Given the description of an element on the screen output the (x, y) to click on. 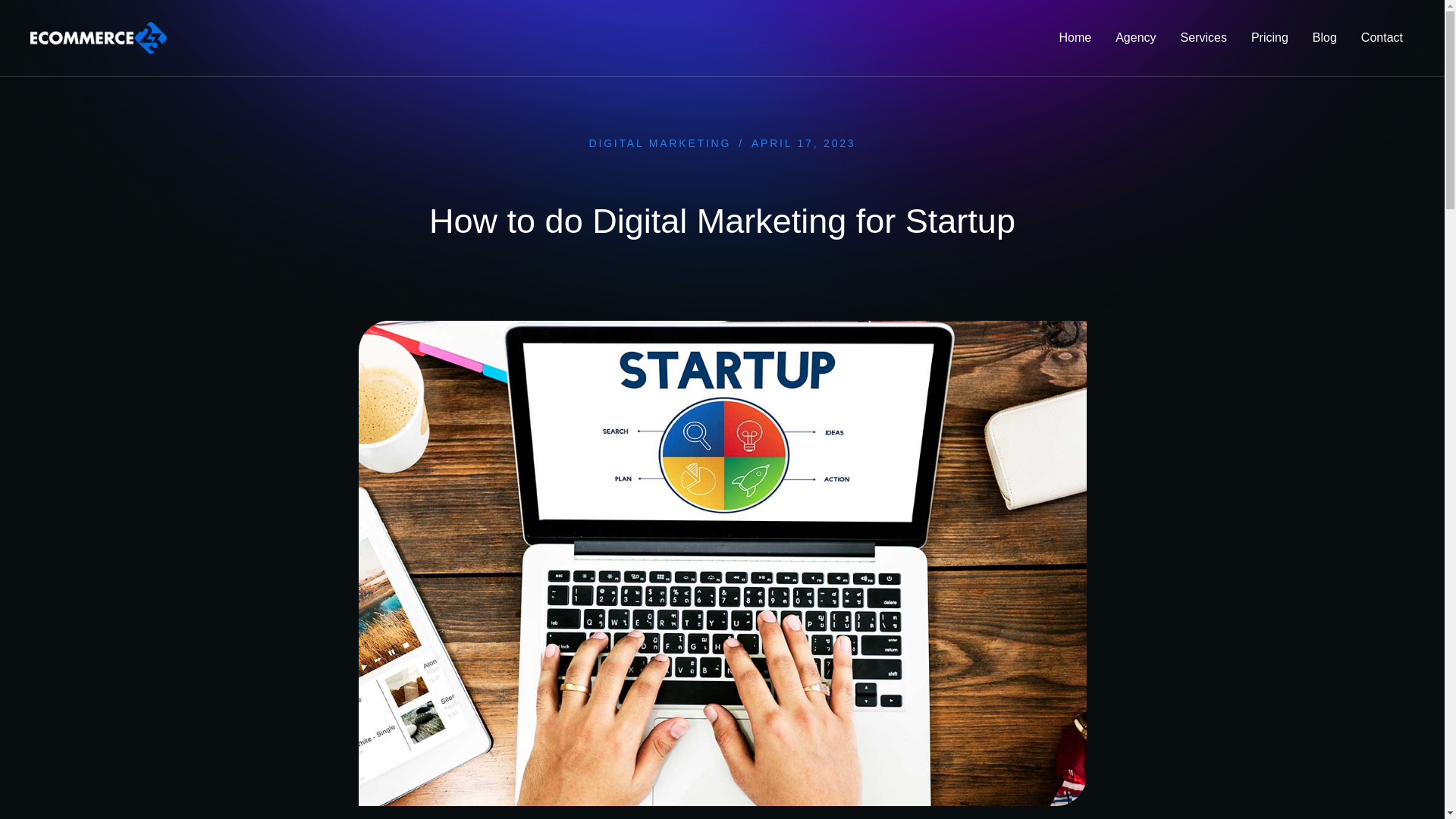
Services (1204, 38)
